Given the description of an element on the screen output the (x, y) to click on. 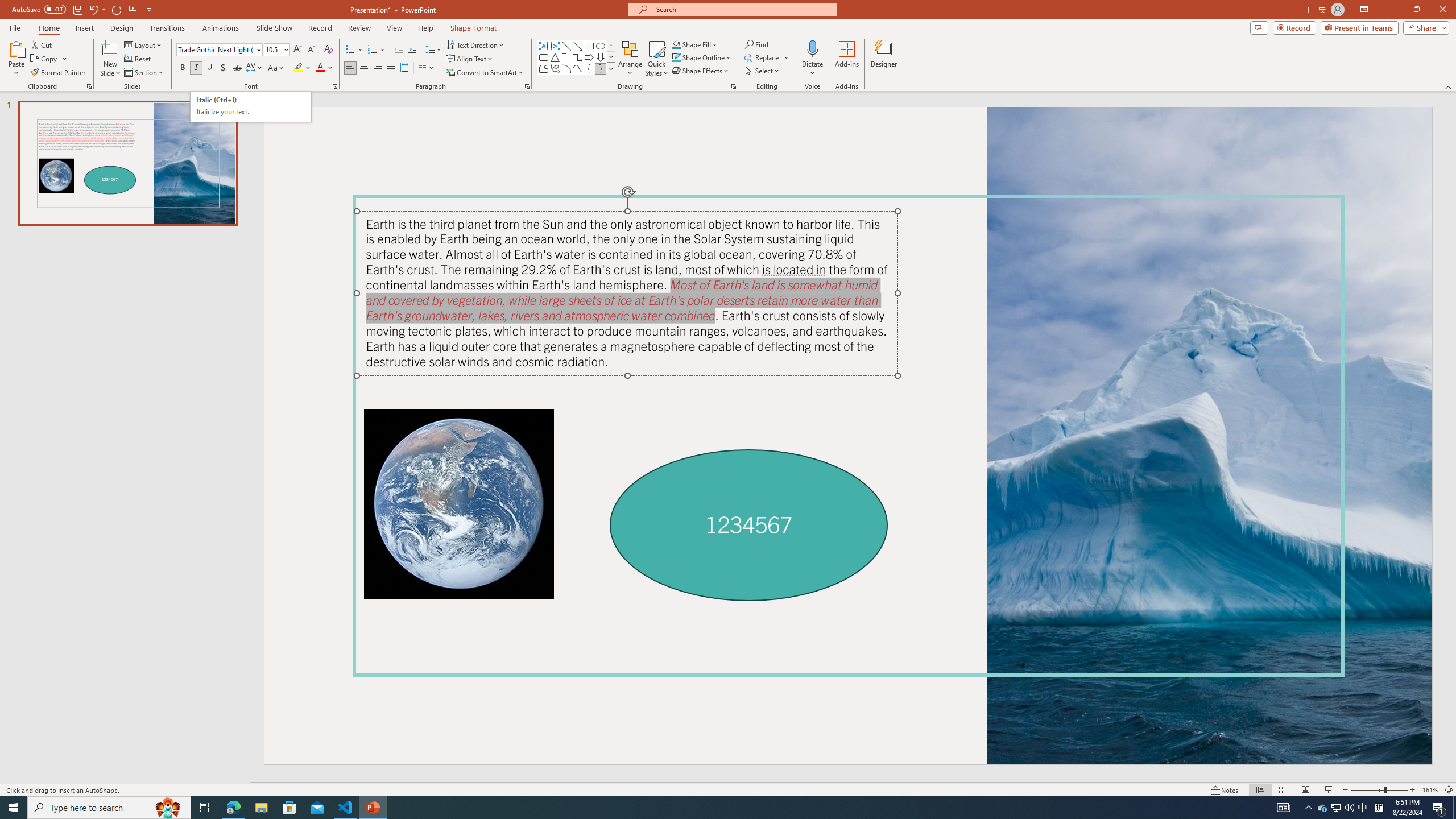
Shape Outline Teal, Accent 1 (675, 56)
